Given the description of an element on the screen output the (x, y) to click on. 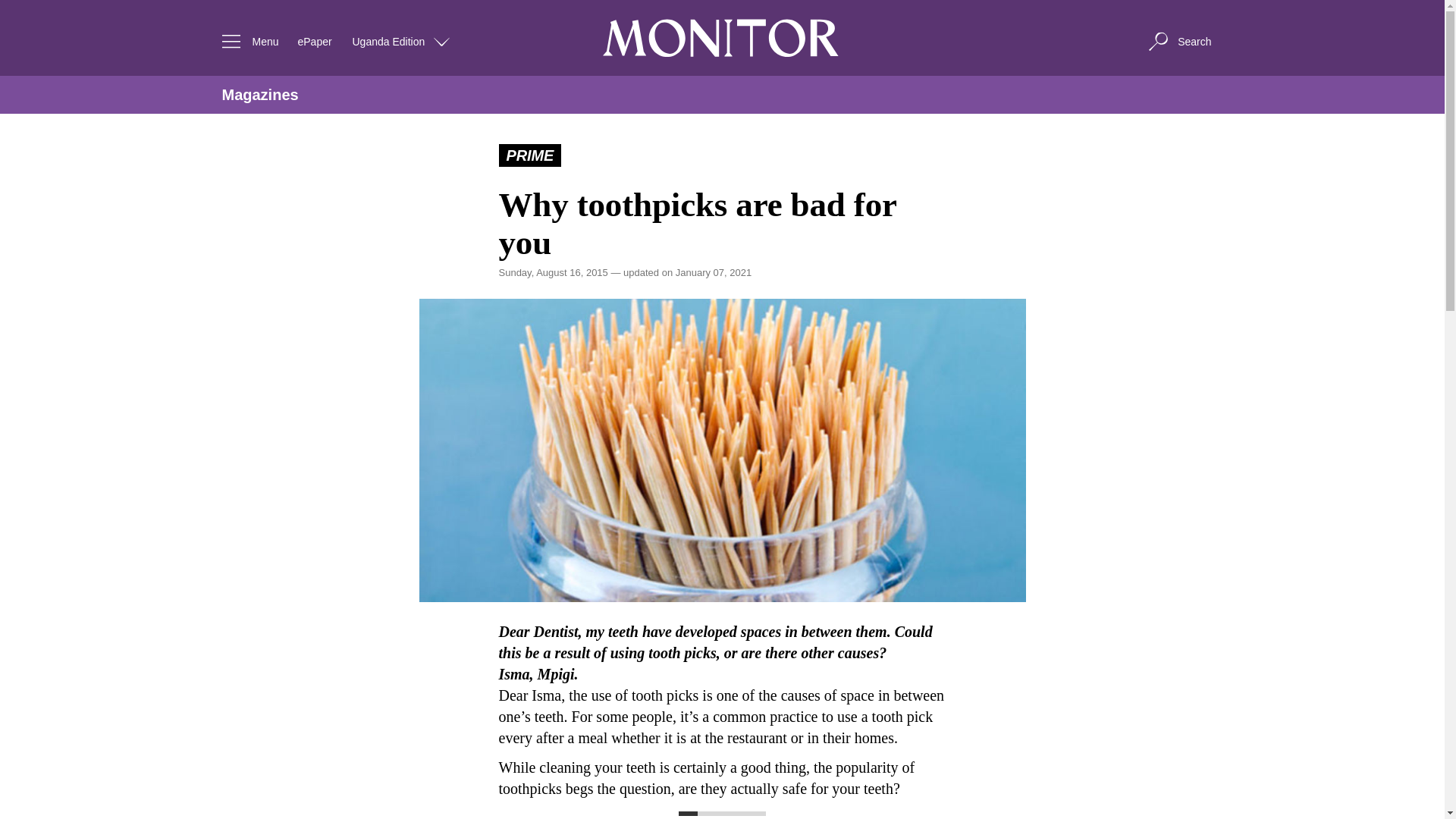
Search (1178, 41)
ePaper (314, 41)
Menu (246, 41)
Magazines (259, 94)
Uganda Edition (401, 41)
